Given the description of an element on the screen output the (x, y) to click on. 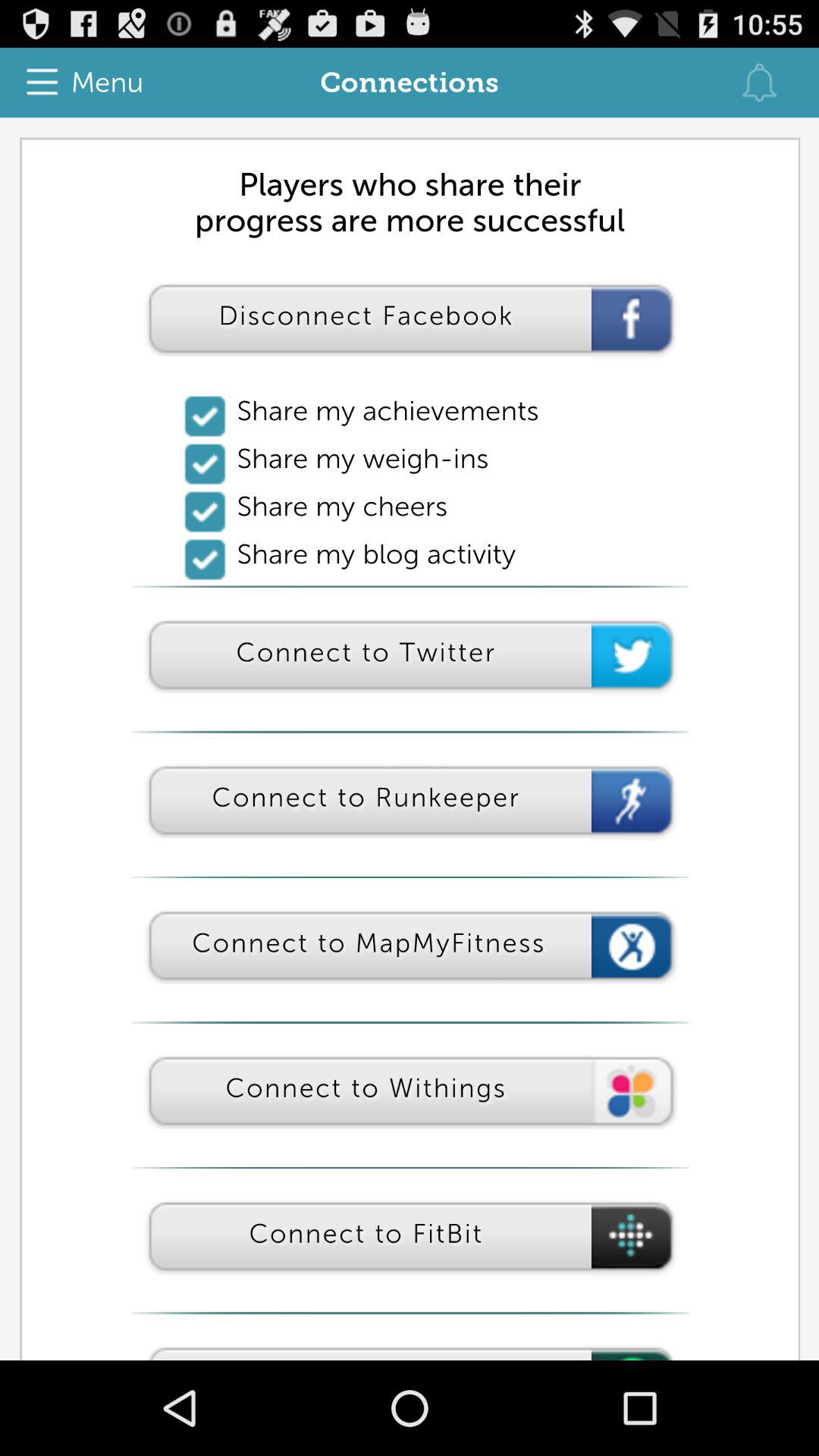
content of connections (409, 738)
